Given the description of an element on the screen output the (x, y) to click on. 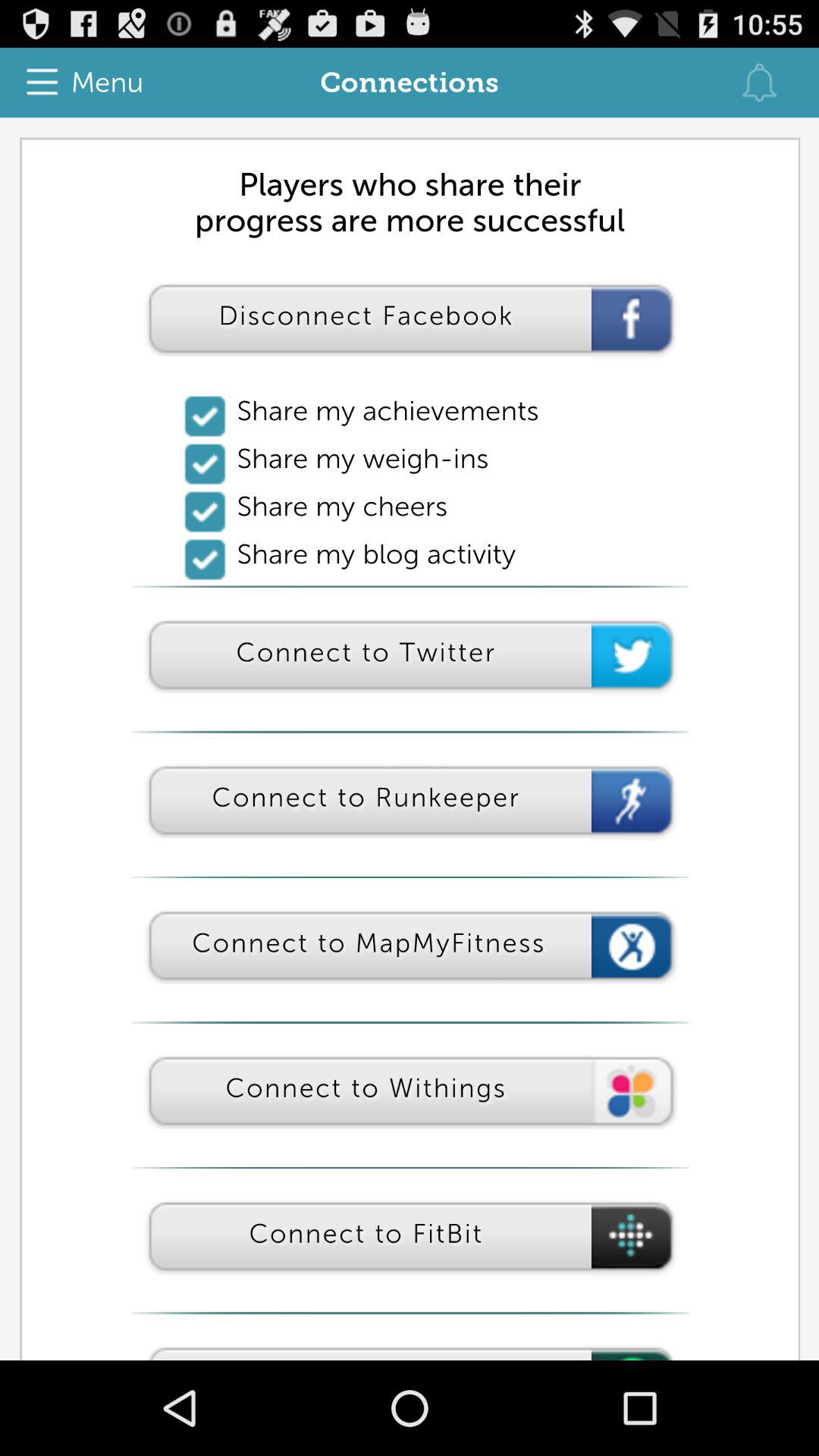
content of connections (409, 738)
